Given the description of an element on the screen output the (x, y) to click on. 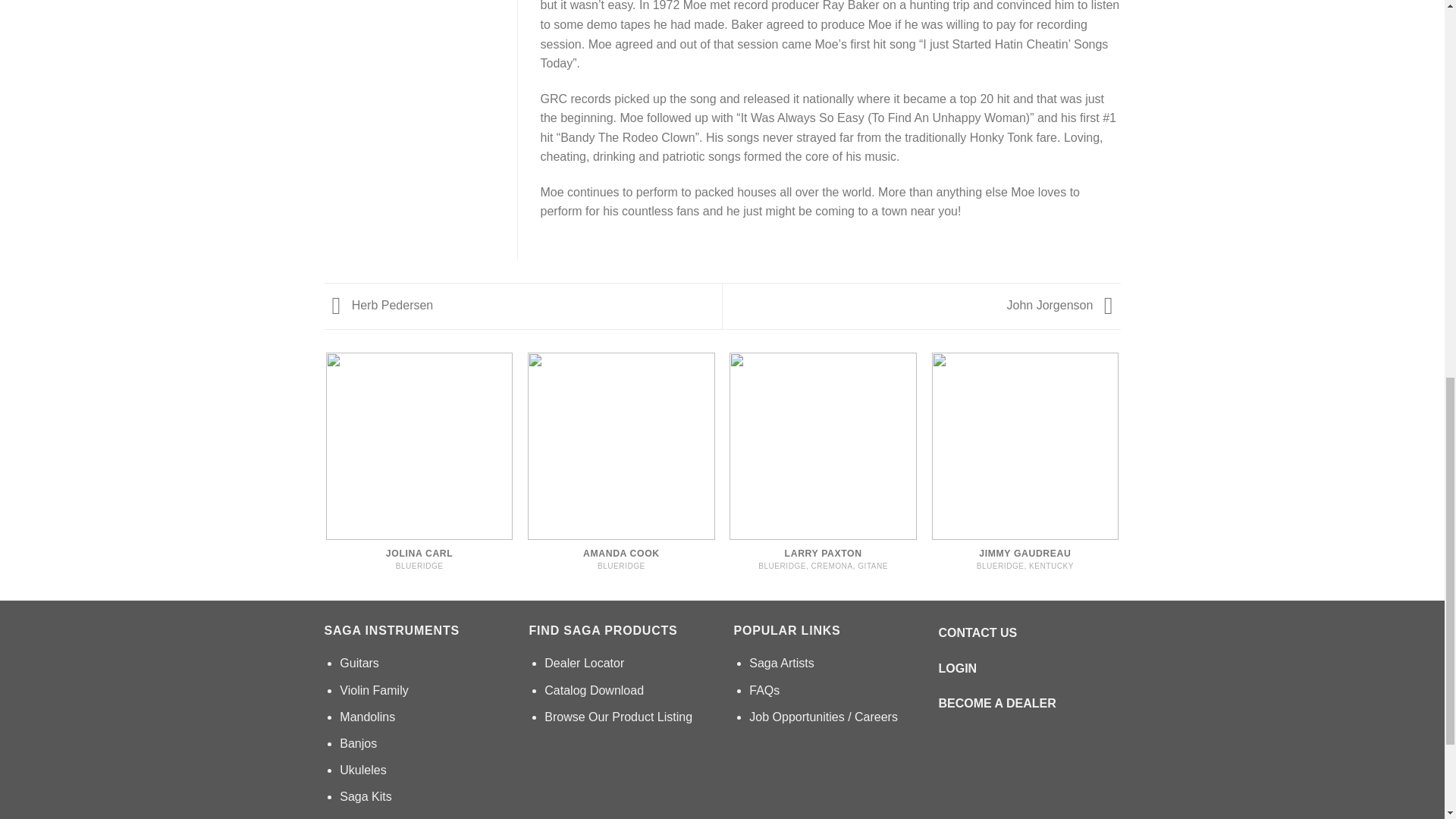
John Jorgenson (1064, 305)
Herb Pedersen (378, 305)
Herb Pedersen (378, 305)
